Given the description of an element on the screen output the (x, y) to click on. 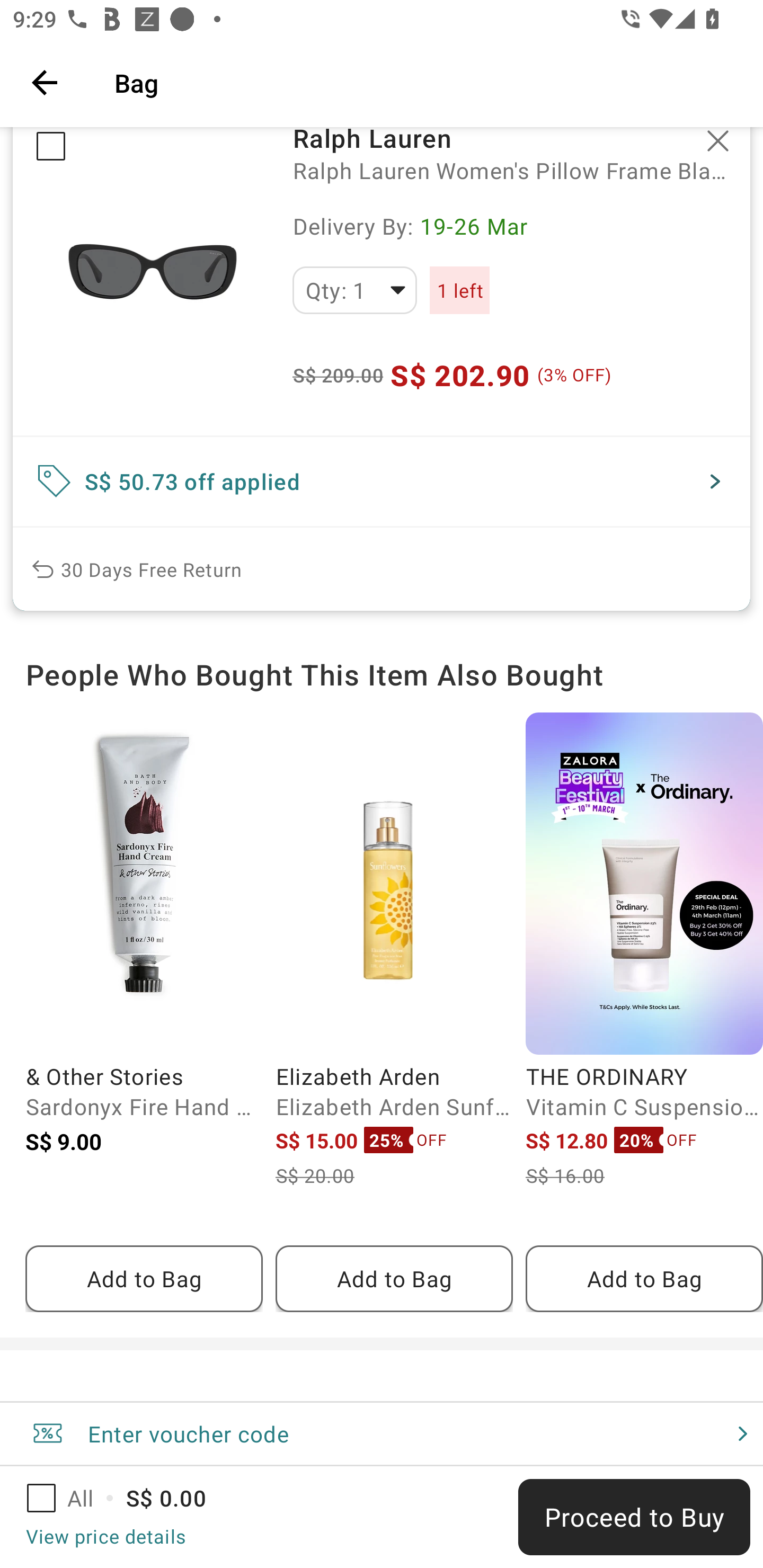
Navigate up (44, 82)
Bag (426, 82)
Qty: 1 (354, 289)
S$ 50.73 off applied (381, 481)
Add to Bag (143, 1278)
Add to Bag (393, 1278)
Add to Bag (644, 1278)
Enter voucher code (381, 1433)
All (72, 1497)
Proceed to Buy (634, 1516)
View price details (105, 1535)
